Given the description of an element on the screen output the (x, y) to click on. 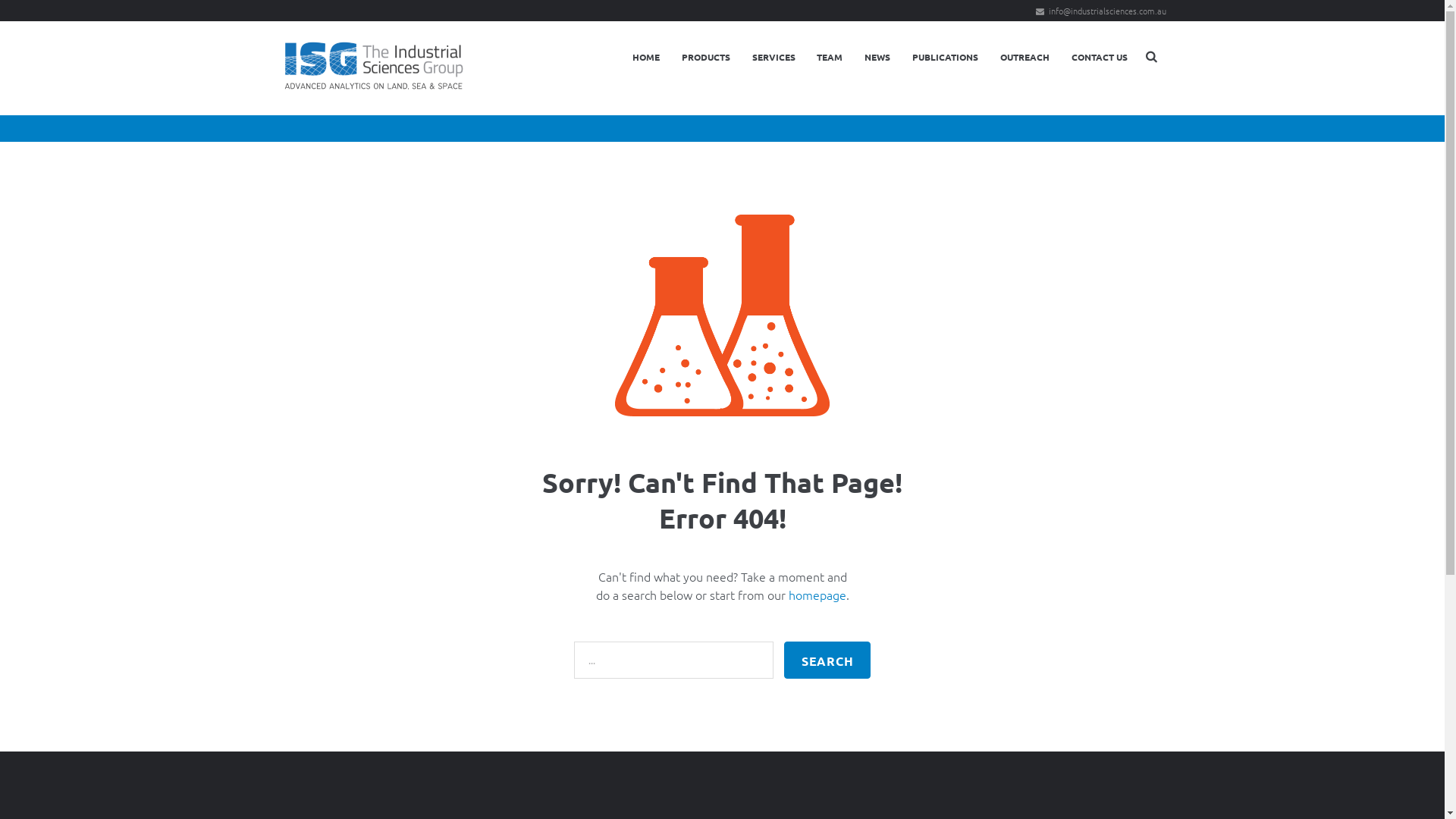
TEAM Element type: text (829, 56)
Start search Element type: hover (827, 659)
CONTACT US Element type: text (1099, 56)
PUBLICATIONS Element type: text (945, 56)
NEWS Element type: text (877, 56)
homepage Element type: text (817, 594)
OUTREACH Element type: text (1024, 56)
PRODUCTS Element type: text (705, 56)
SERVICES Element type: text (773, 56)
HOME Element type: text (646, 56)
Open search Element type: hover (1152, 55)
